Given the description of an element on the screen output the (x, y) to click on. 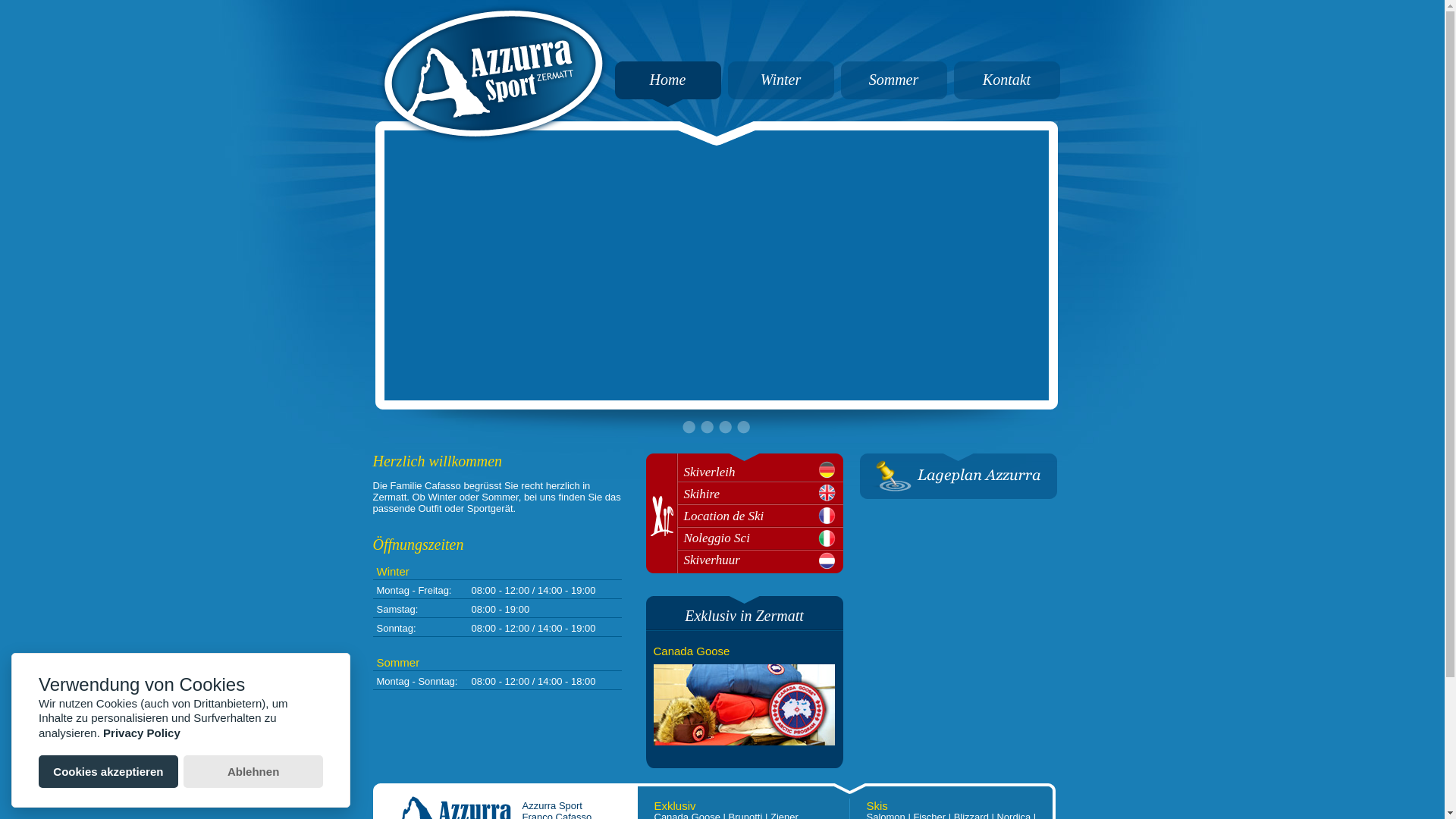
Home Element type: text (667, 79)
Sommer Element type: text (894, 79)
Location de Ski Element type: text (763, 516)
Winter Element type: text (781, 92)
Home Element type: text (667, 92)
Skiverleih Element type: text (763, 472)
Kontakt Element type: text (1006, 92)
Sommer Element type: text (893, 92)
Privacy Policy Element type: text (141, 732)
Cookies akzeptieren Element type: text (108, 771)
Noleggio Sci Element type: text (763, 538)
Kontakt Element type: text (1006, 79)
Skiverhuur Element type: text (763, 560)
Skihire Element type: text (763, 494)
Winter Element type: text (780, 79)
Ablehnen Element type: text (253, 771)
